Given the description of an element on the screen output the (x, y) to click on. 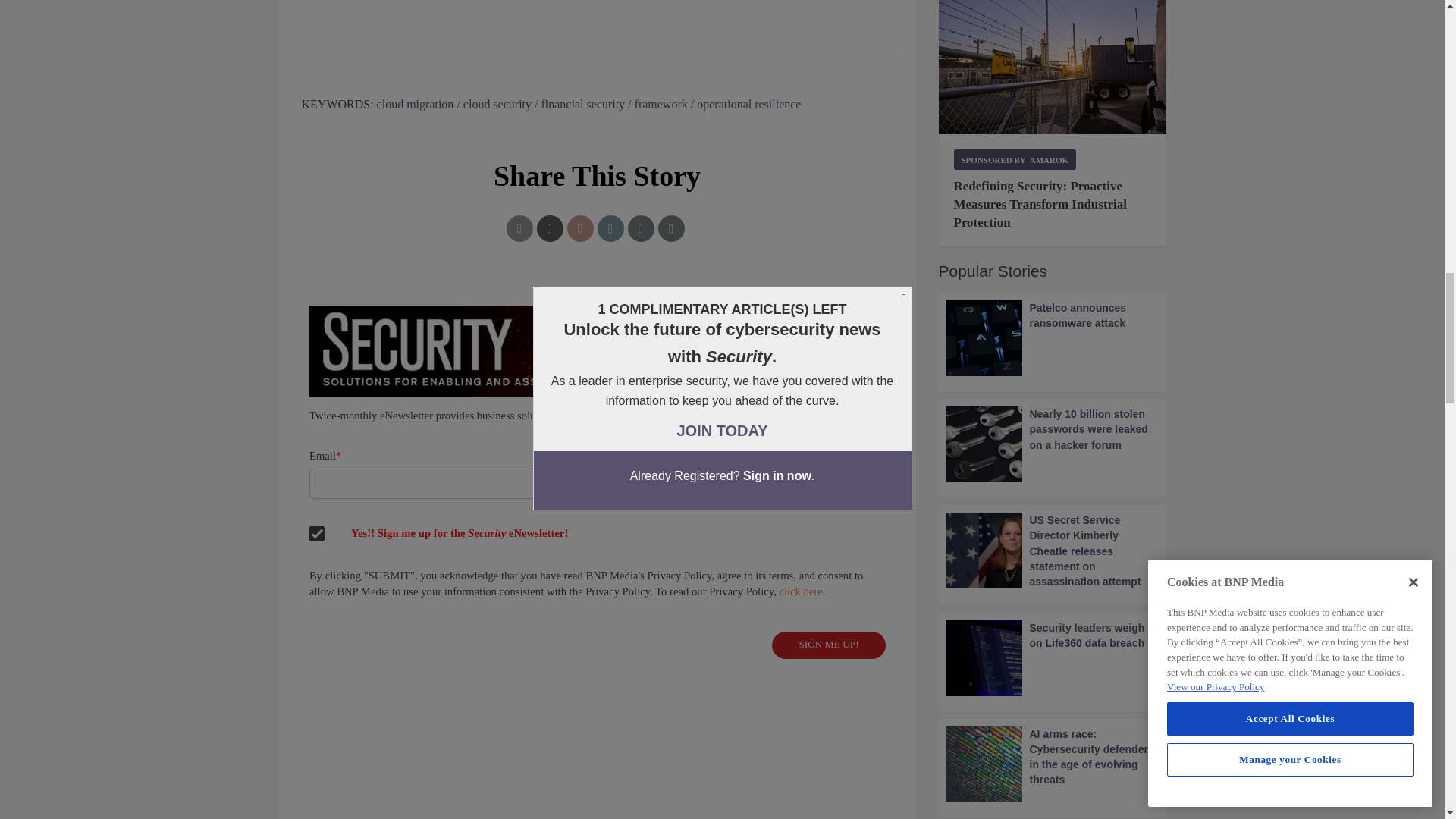
Security leaders weigh in on Life360 data breach (1052, 657)
Patelco announces ransomware attack (1052, 337)
Sponsored by AMAROK (1015, 159)
AMAROK Security Gate (1052, 67)
